Given the description of an element on the screen output the (x, y) to click on. 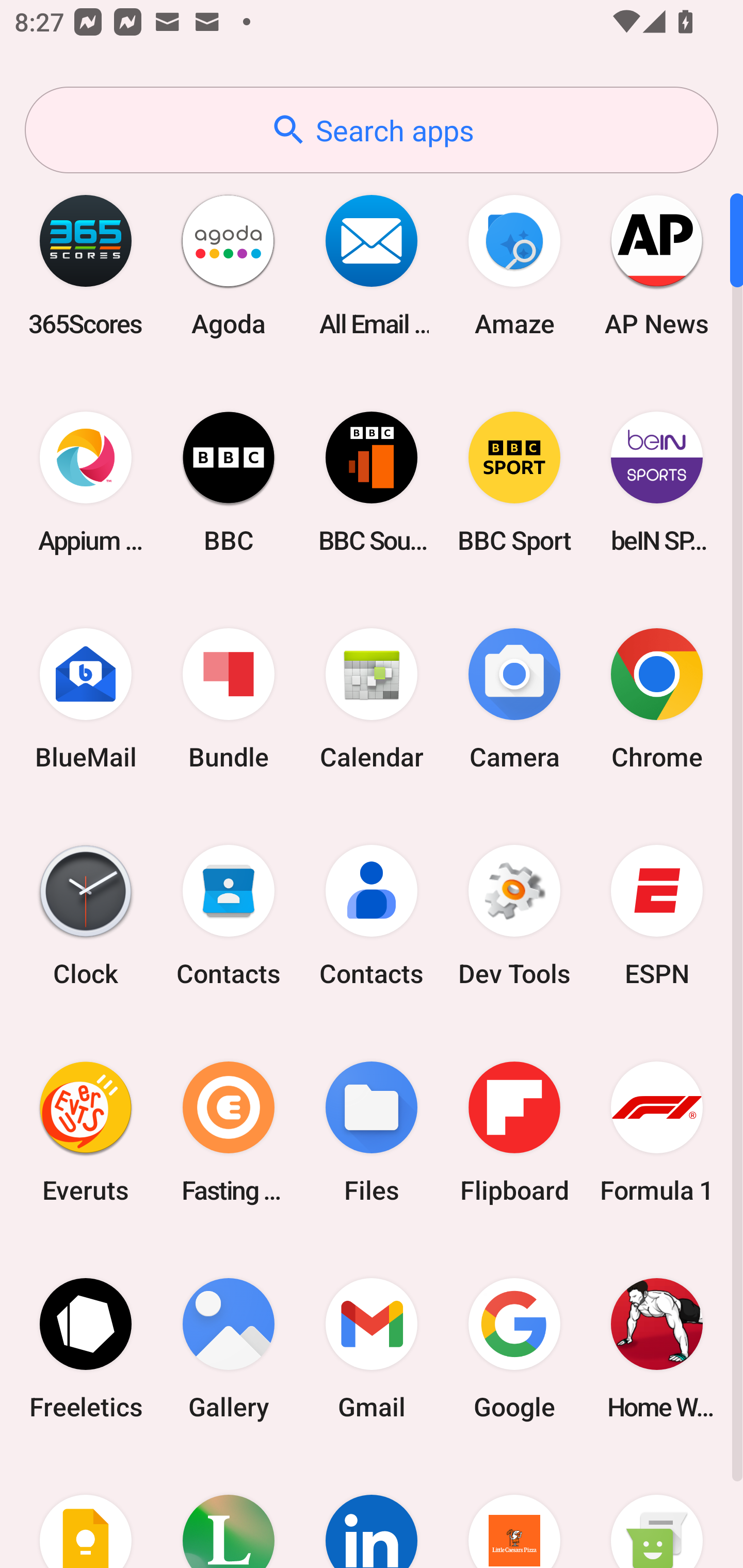
  Search apps (371, 130)
365Scores (85, 264)
Agoda (228, 264)
All Email Connect (371, 264)
Amaze (514, 264)
AP News (656, 264)
Appium Settings (85, 482)
BBC (228, 482)
BBC Sounds (371, 482)
BBC Sport (514, 482)
beIN SPORTS (656, 482)
BlueMail (85, 699)
Bundle (228, 699)
Calendar (371, 699)
Camera (514, 699)
Chrome (656, 699)
Clock (85, 915)
Contacts (228, 915)
Contacts (371, 915)
Dev Tools (514, 915)
ESPN (656, 915)
Everuts (85, 1131)
Fasting Coach (228, 1131)
Files (371, 1131)
Flipboard (514, 1131)
Formula 1 (656, 1131)
Freeletics (85, 1348)
Gallery (228, 1348)
Gmail (371, 1348)
Google (514, 1348)
Home Workout (656, 1348)
Keep Notes (85, 1512)
Lifesum (228, 1512)
LinkedIn (371, 1512)
Little Caesars Pizza (514, 1512)
Messaging (656, 1512)
